Given the description of an element on the screen output the (x, y) to click on. 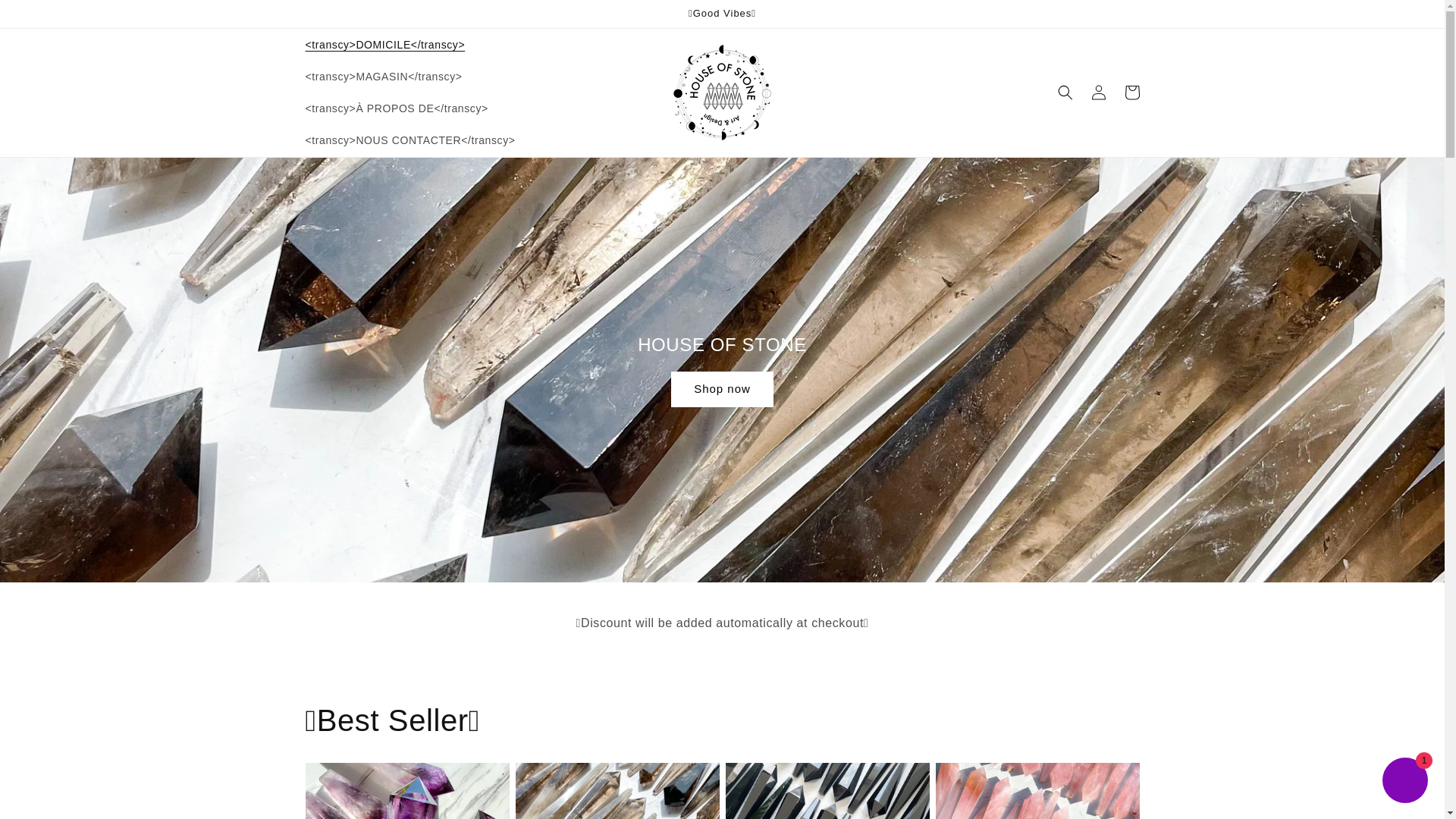
Connexion (1098, 92)
Panier (1131, 92)
Chat de la boutique en ligne Shopify (1404, 781)
Shop now (722, 389)
Ignorer et passer au contenu (45, 17)
